Given the description of an element on the screen output the (x, y) to click on. 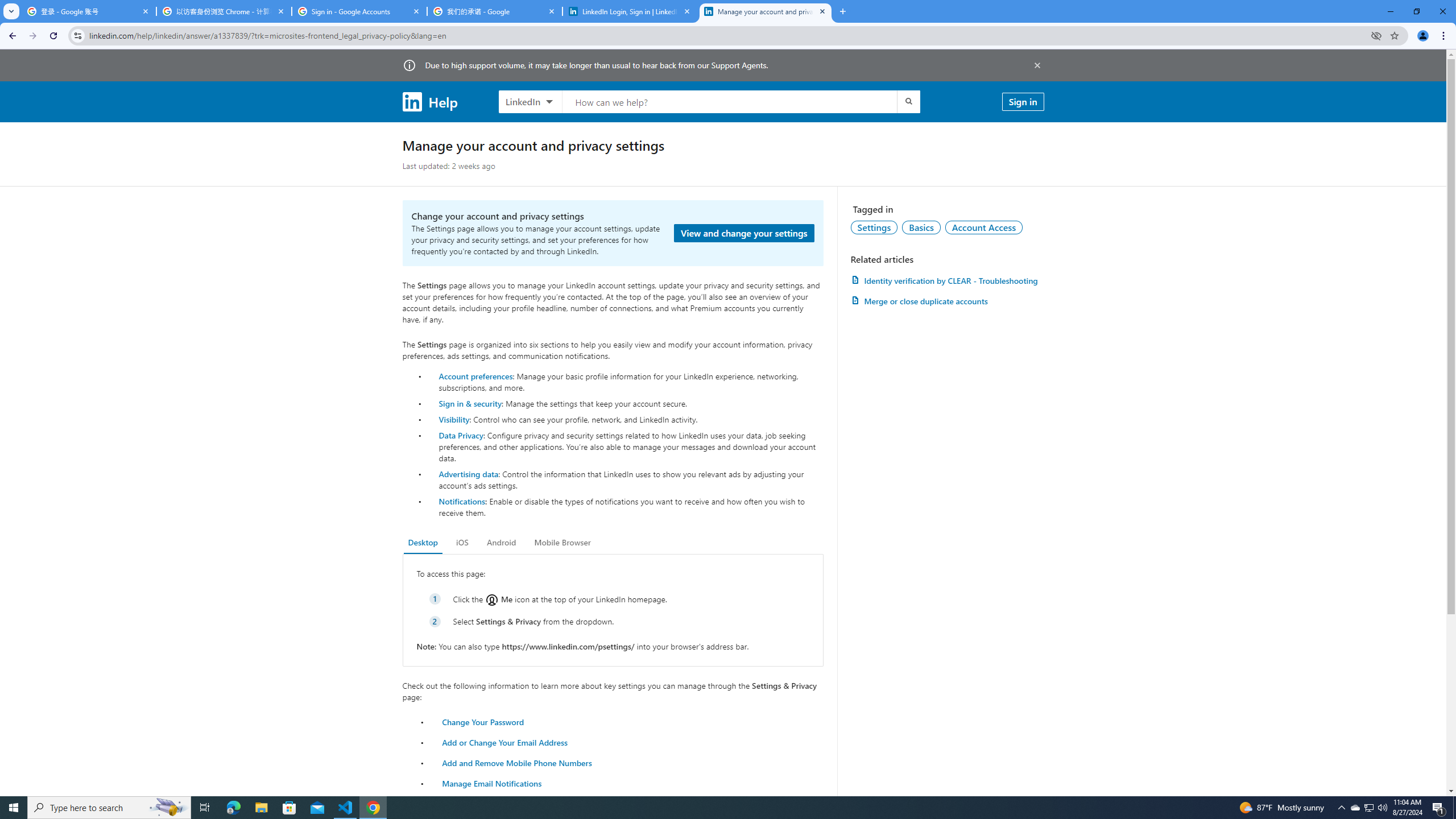
Sign in - Google Accounts (359, 11)
LinkedIn products to search, LinkedIn selected (530, 101)
Add and Remove Mobile Phone Numbers (517, 762)
Third-party cookies blocked (1376, 35)
Mobile Browser (562, 542)
